Given the description of an element on the screen output the (x, y) to click on. 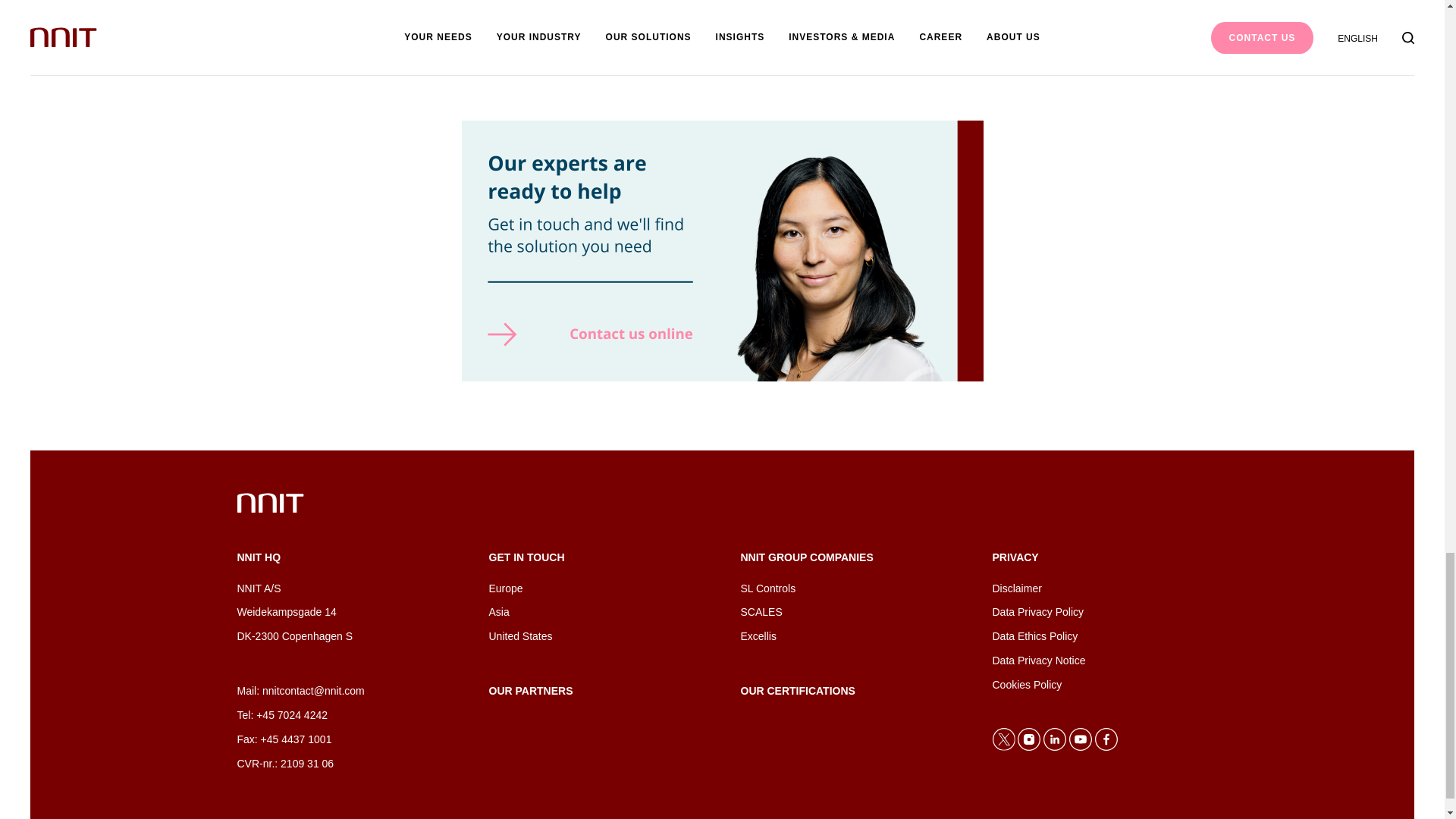
Our Certifications (796, 690)
Get in Touch (504, 588)
Cookie Policy (1026, 684)
Get in Touch (497, 612)
Data Privacy Notice (1037, 660)
Disclaimer (1016, 588)
Our Partners (529, 690)
Contact us (721, 377)
Data Ethics Policy (1034, 635)
Get in Touch (519, 635)
